Given the description of an element on the screen output the (x, y) to click on. 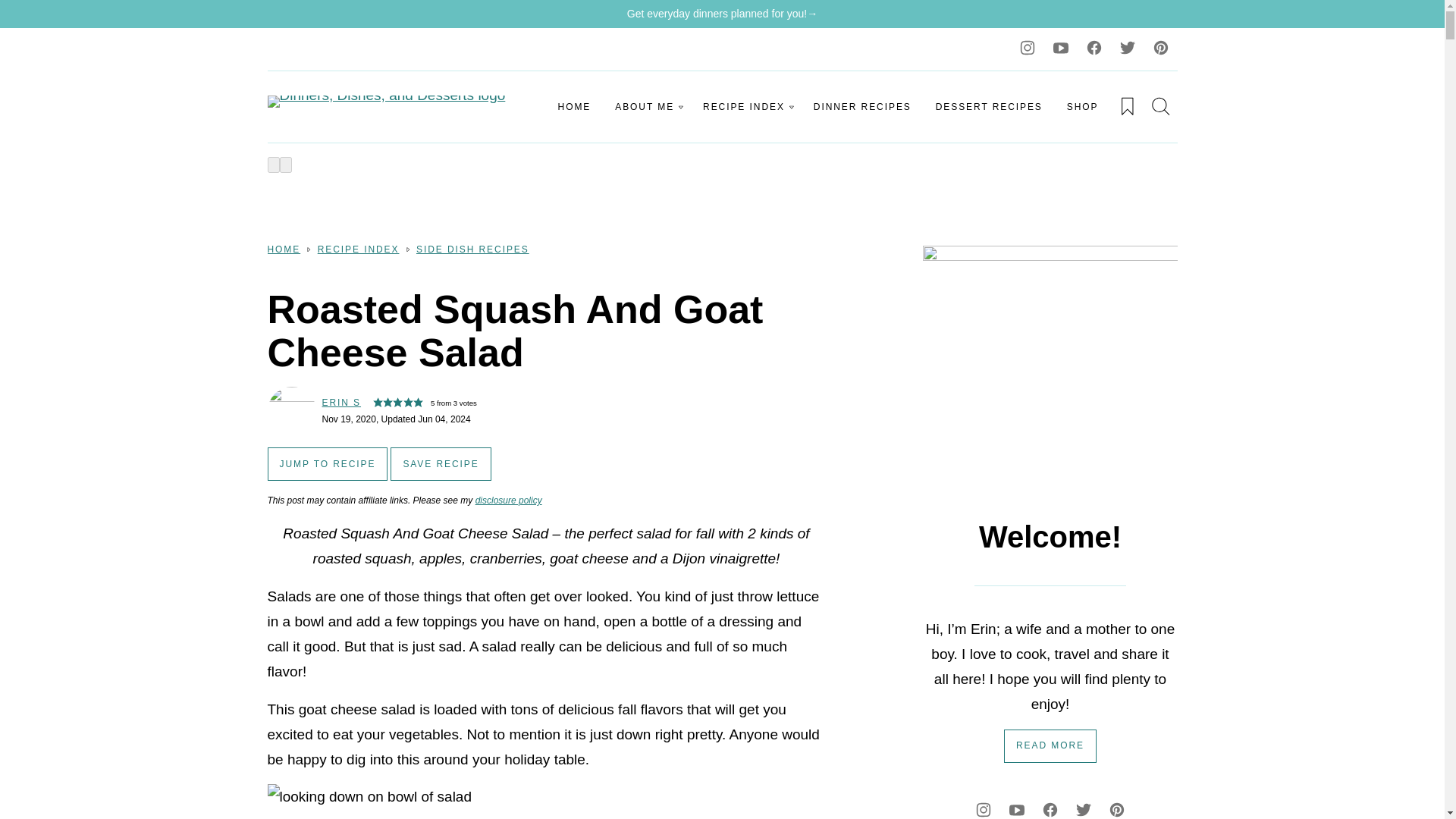
SIDE DISH RECIPES (472, 249)
RECIPE INDEX (746, 106)
DINNER RECIPES (862, 106)
disclosure policy (508, 500)
ABOUT ME (646, 106)
DESSERT RECIPES (988, 106)
HOME (282, 249)
JUMP TO RECIPE (326, 463)
HOME (575, 106)
RECIPE INDEX (357, 249)
